Given the description of an element on the screen output the (x, y) to click on. 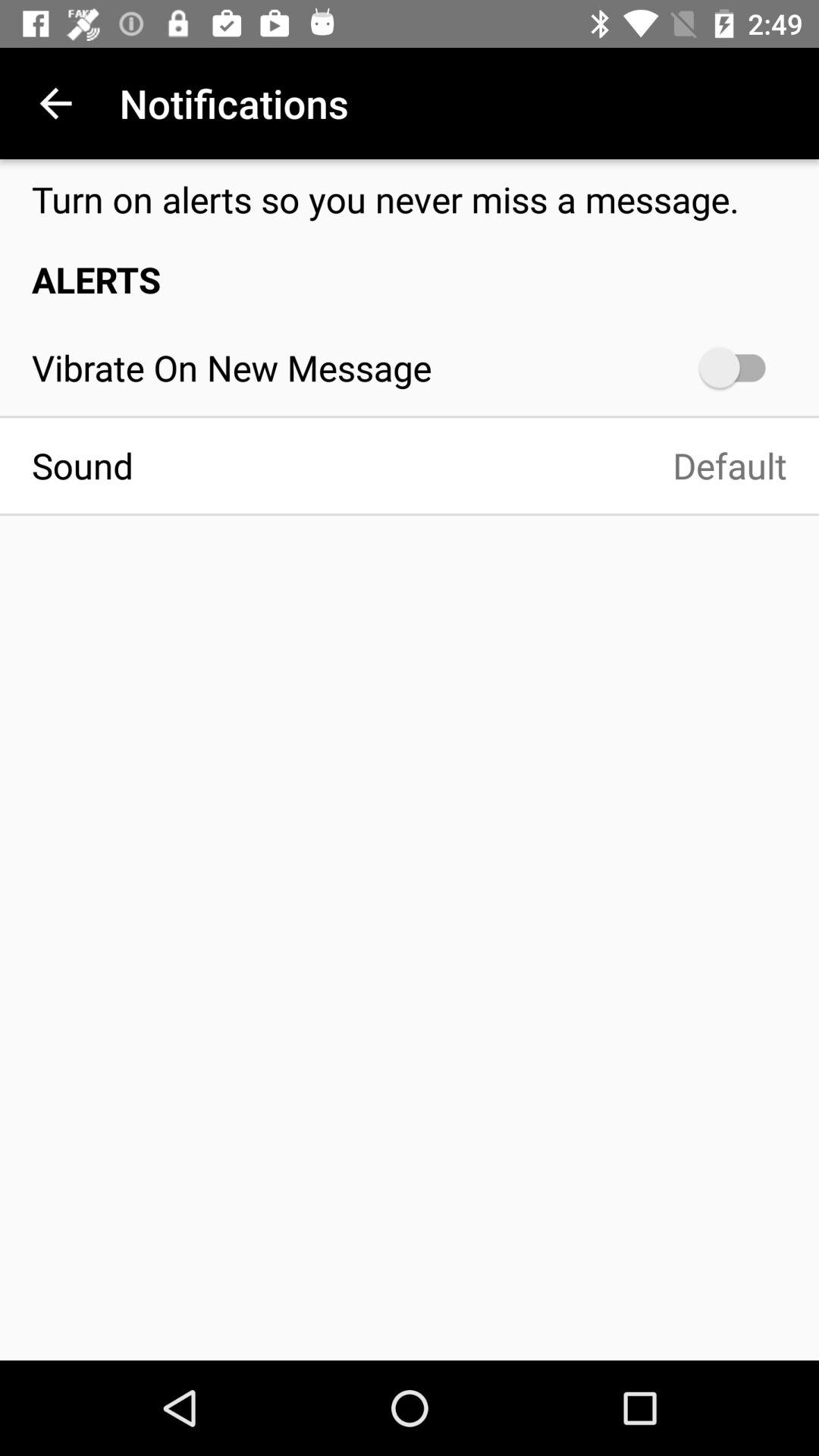
select icon next to the notifications (55, 103)
